Given the description of an element on the screen output the (x, y) to click on. 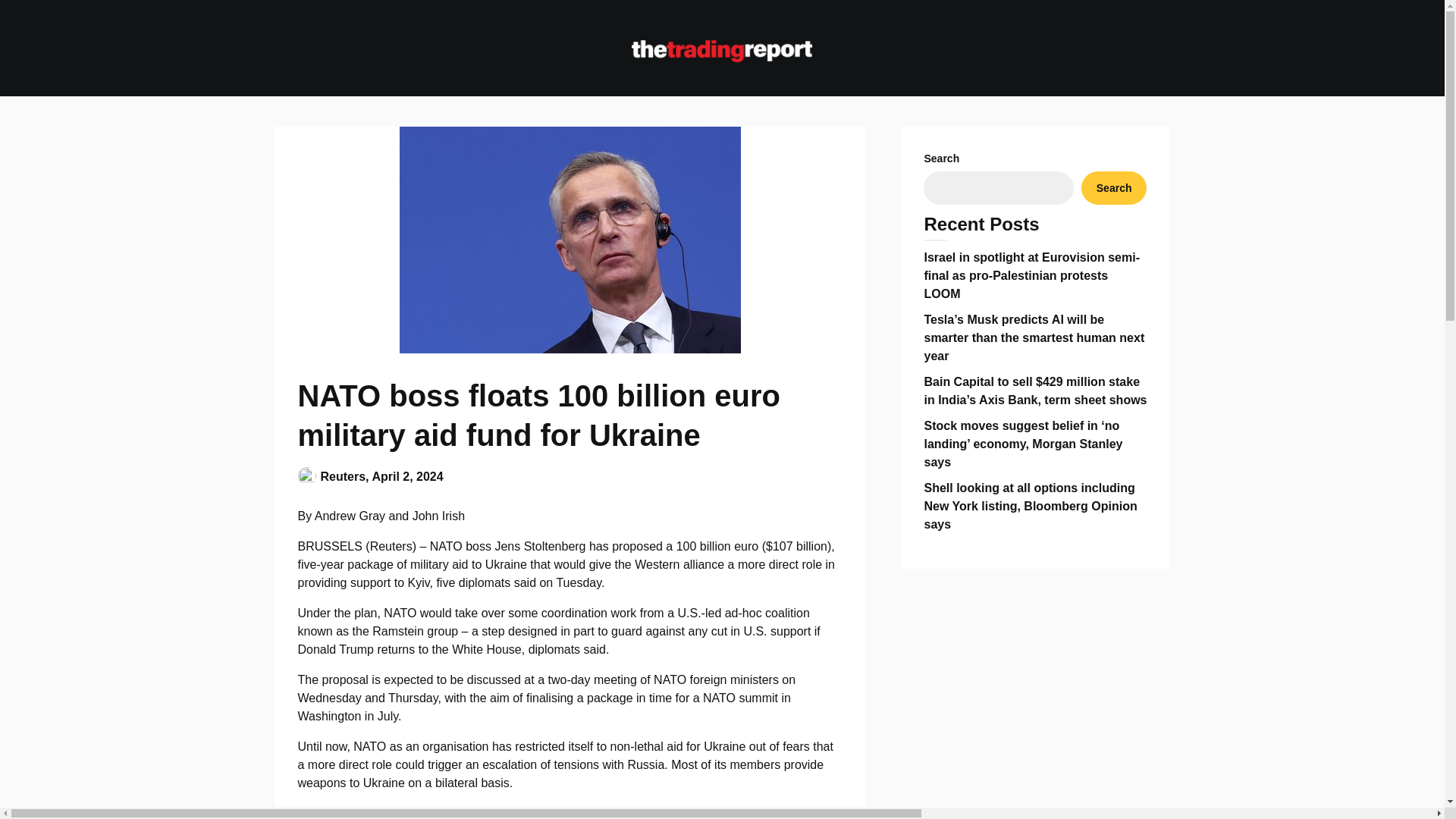
Search (1114, 187)
April 2, 2024 (406, 476)
